Given the description of an element on the screen output the (x, y) to click on. 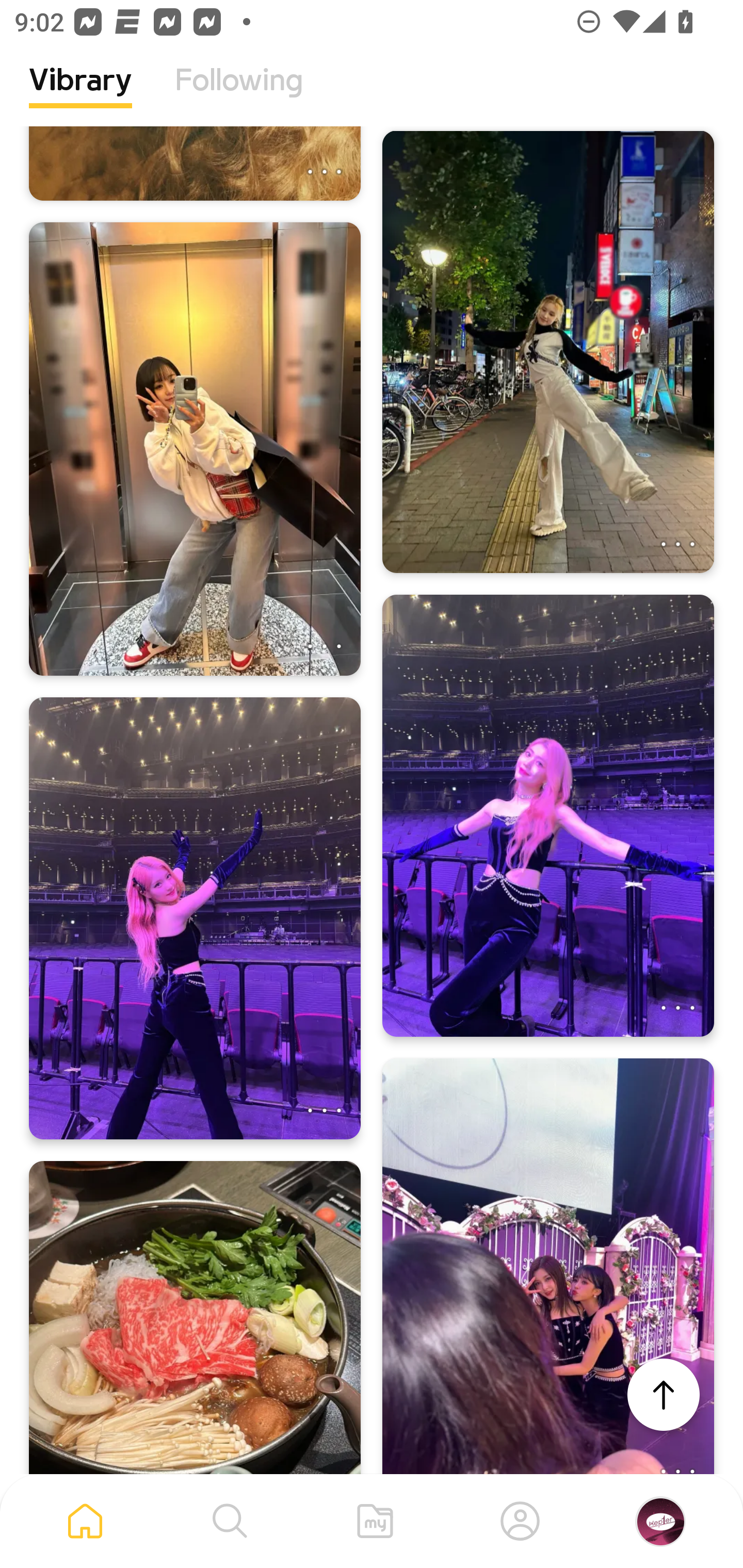
Vibrary (80, 95)
Following (239, 95)
